Given the description of an element on the screen output the (x, y) to click on. 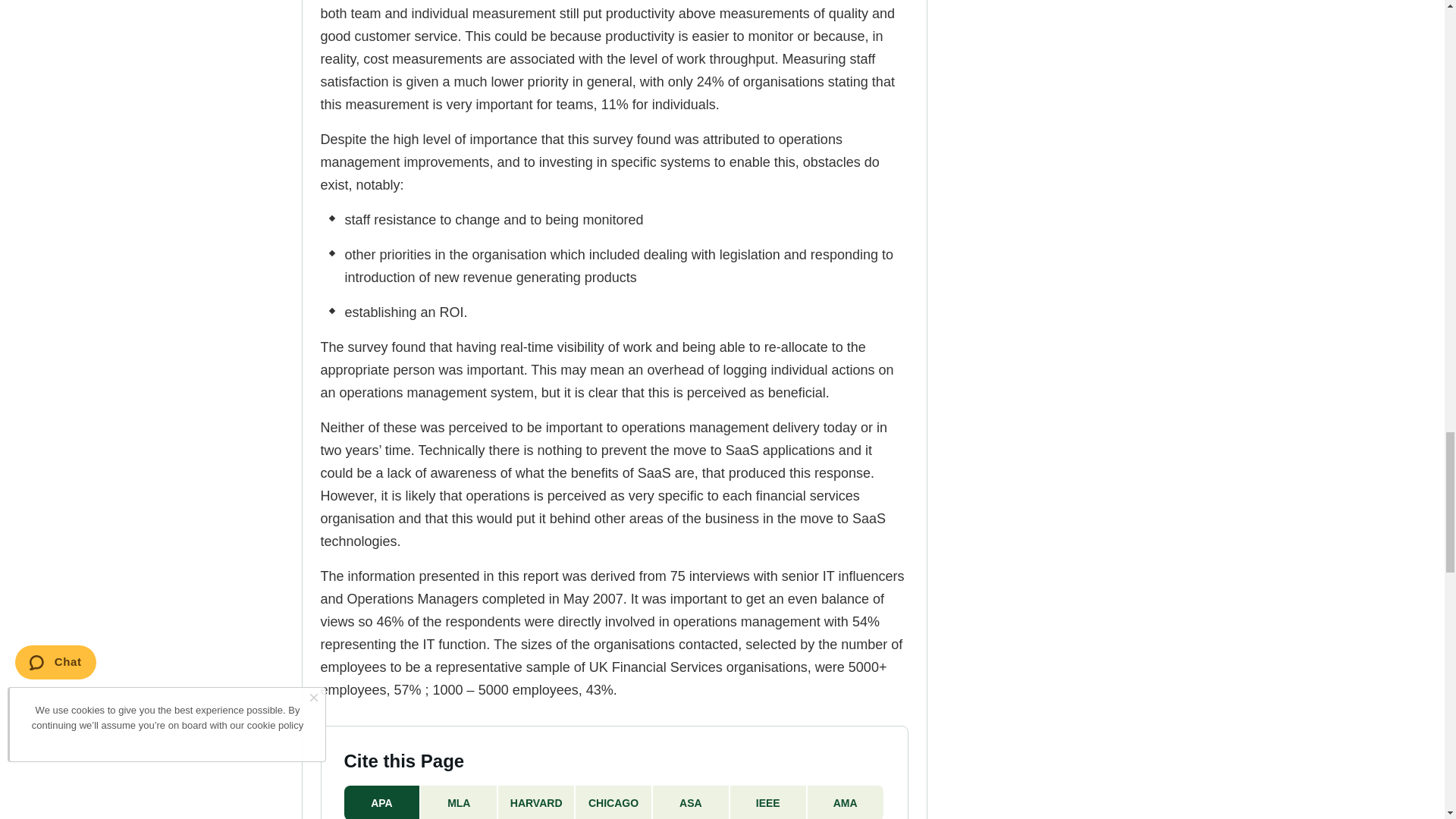
CHICAGO (613, 802)
HARVARD (536, 802)
ASA (691, 802)
APA (382, 802)
MLA (458, 802)
